Given the description of an element on the screen output the (x, y) to click on. 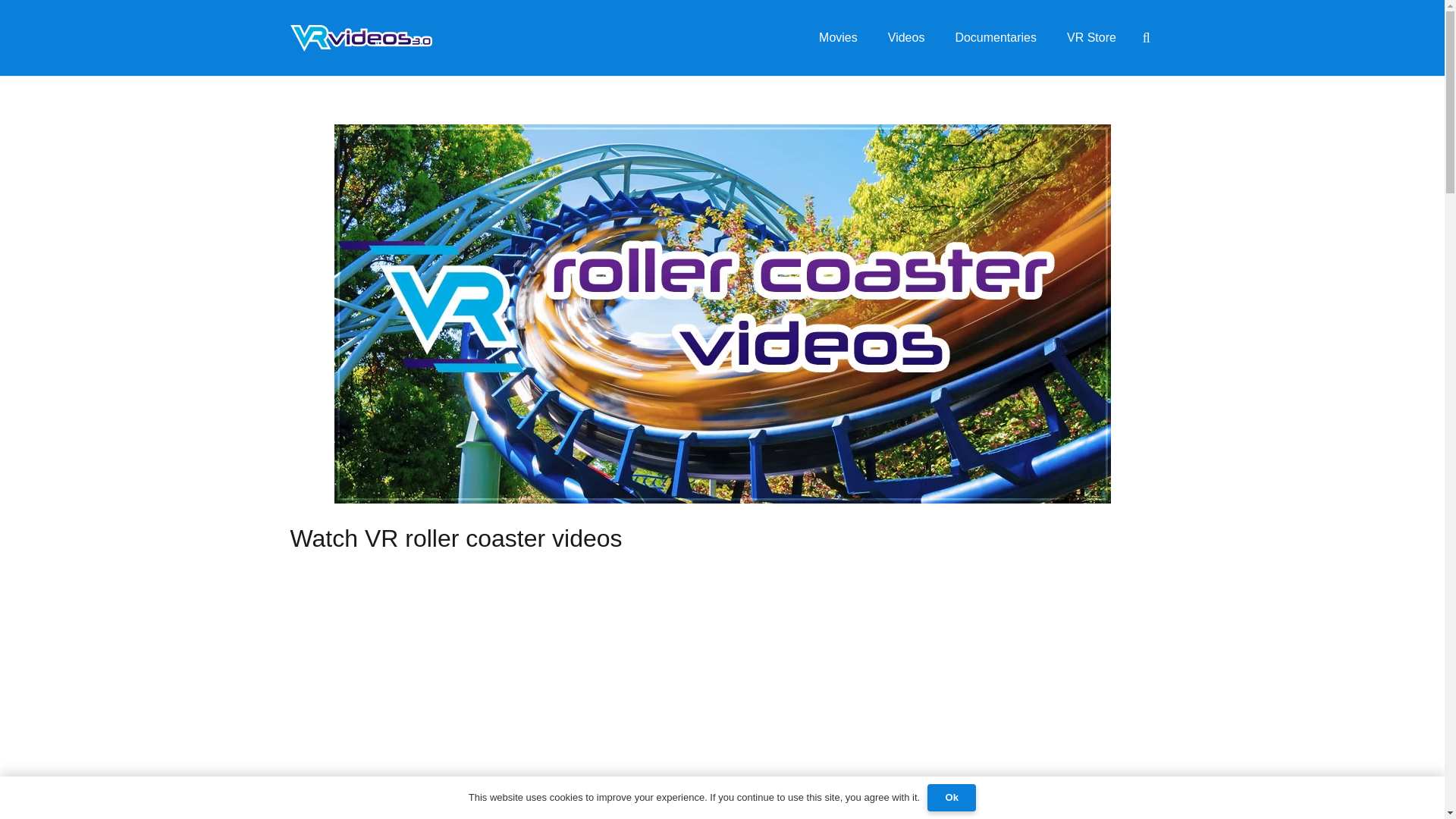
Documentaries (995, 38)
Watch Online VR Movies (837, 38)
Videos (906, 38)
VR Store (1091, 38)
Movies (837, 38)
